Given the description of an element on the screen output the (x, y) to click on. 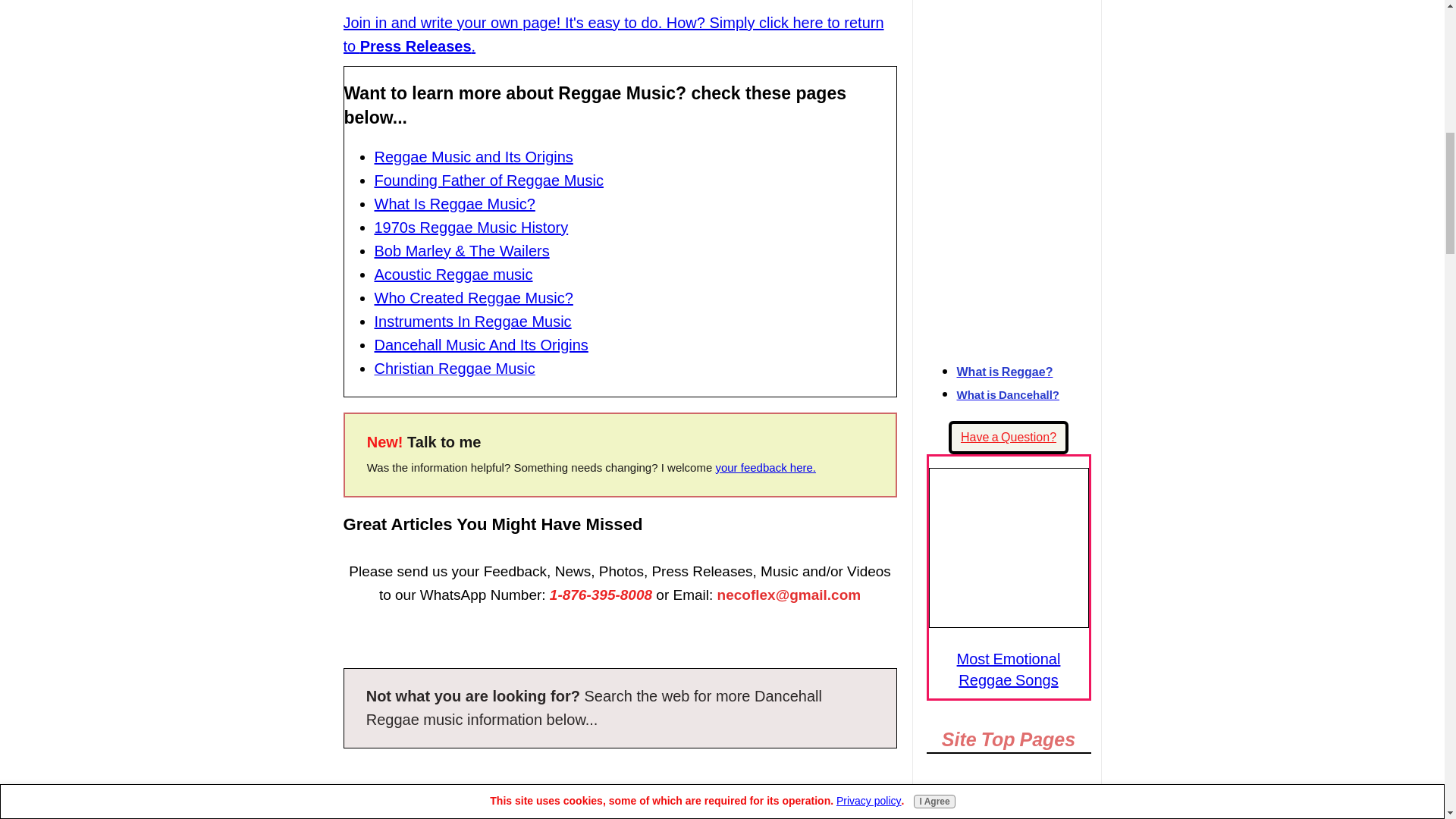
Articles (1008, 815)
Most Emotional Reggae Songs (1007, 547)
Instruments In Reggae Music (473, 321)
Who Created Reggae Music? (473, 297)
What is Dancehall? (1007, 394)
Dancehall Music And Its Origins (481, 344)
your feedback here. (764, 467)
What is Reggae? (1004, 371)
Home (1008, 796)
1970s Reggae Music History (471, 227)
Go to Most Emotional Reggae Songs (1007, 622)
Have a Question? (1008, 437)
Christian Reggae Music (454, 369)
Go to Have A Question? Please Ask... (1008, 437)
